Given the description of an element on the screen output the (x, y) to click on. 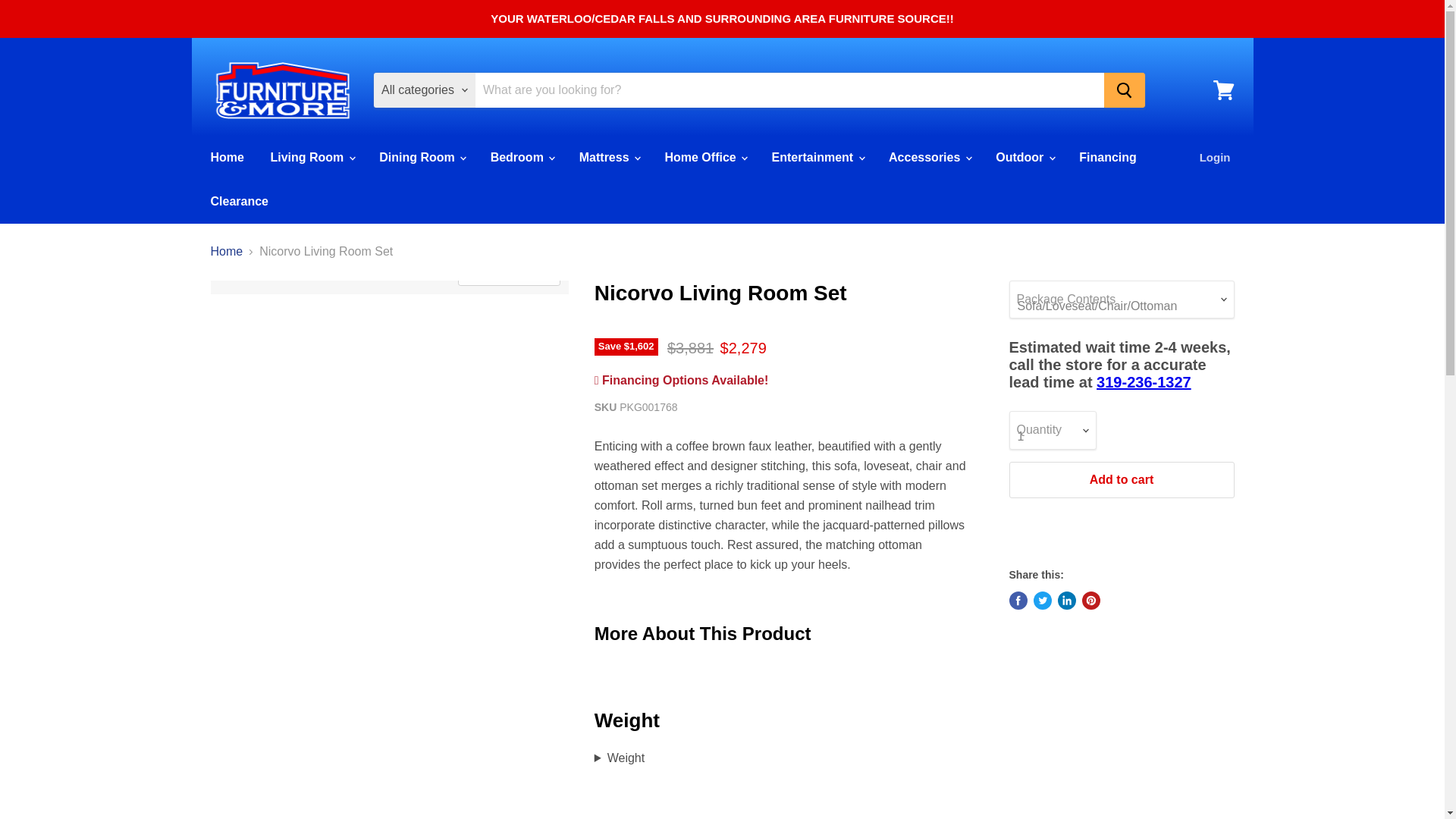
Home (226, 157)
Mattress (608, 157)
Bedroom (521, 157)
Home Office (704, 157)
Dining Room (422, 157)
View cart (1223, 89)
Living Room (311, 157)
